Given the description of an element on the screen output the (x, y) to click on. 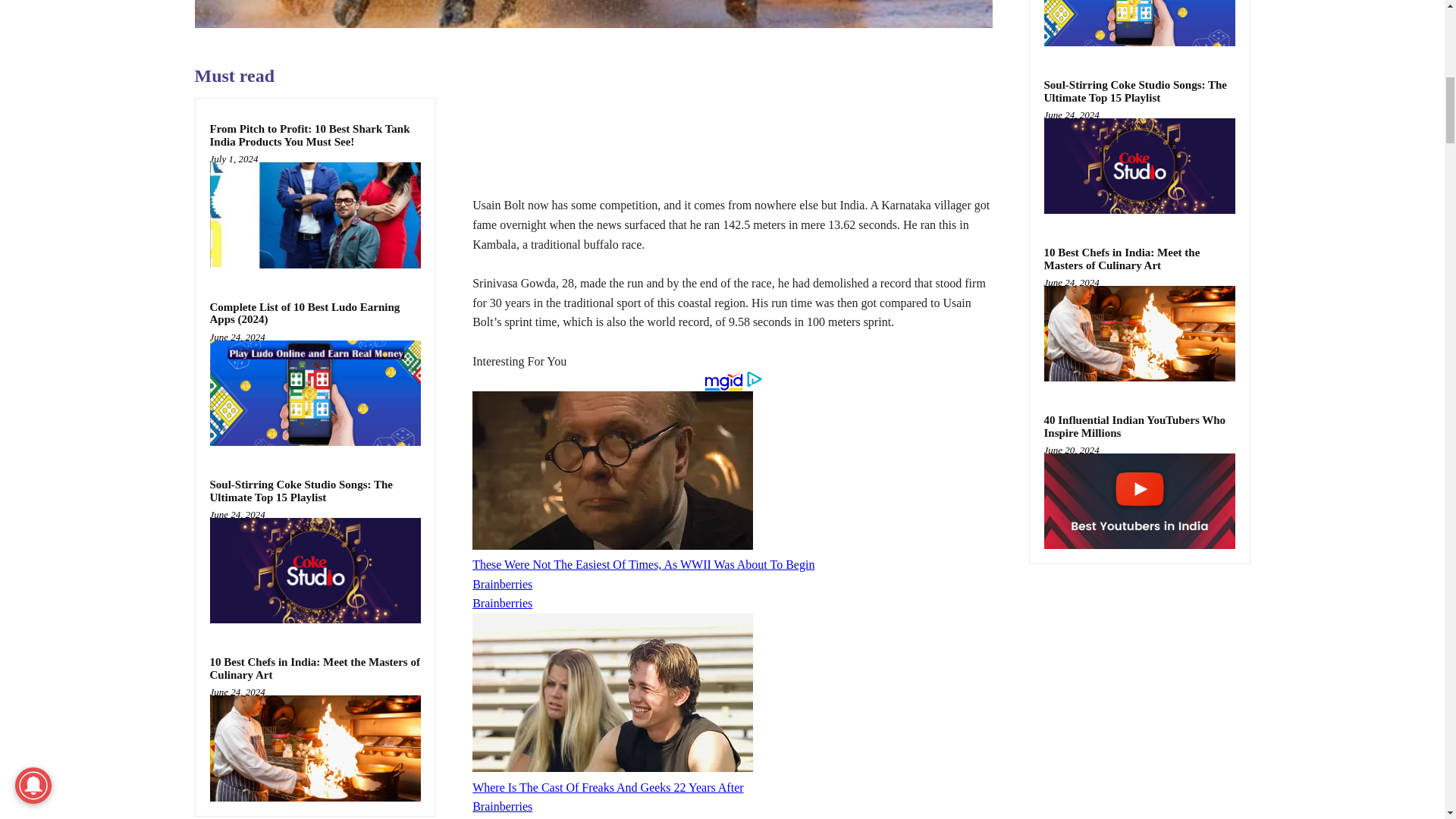
Karnataka Man Covers 100m In 9.55 Seconds (592, 13)
